Given the description of an element on the screen output the (x, y) to click on. 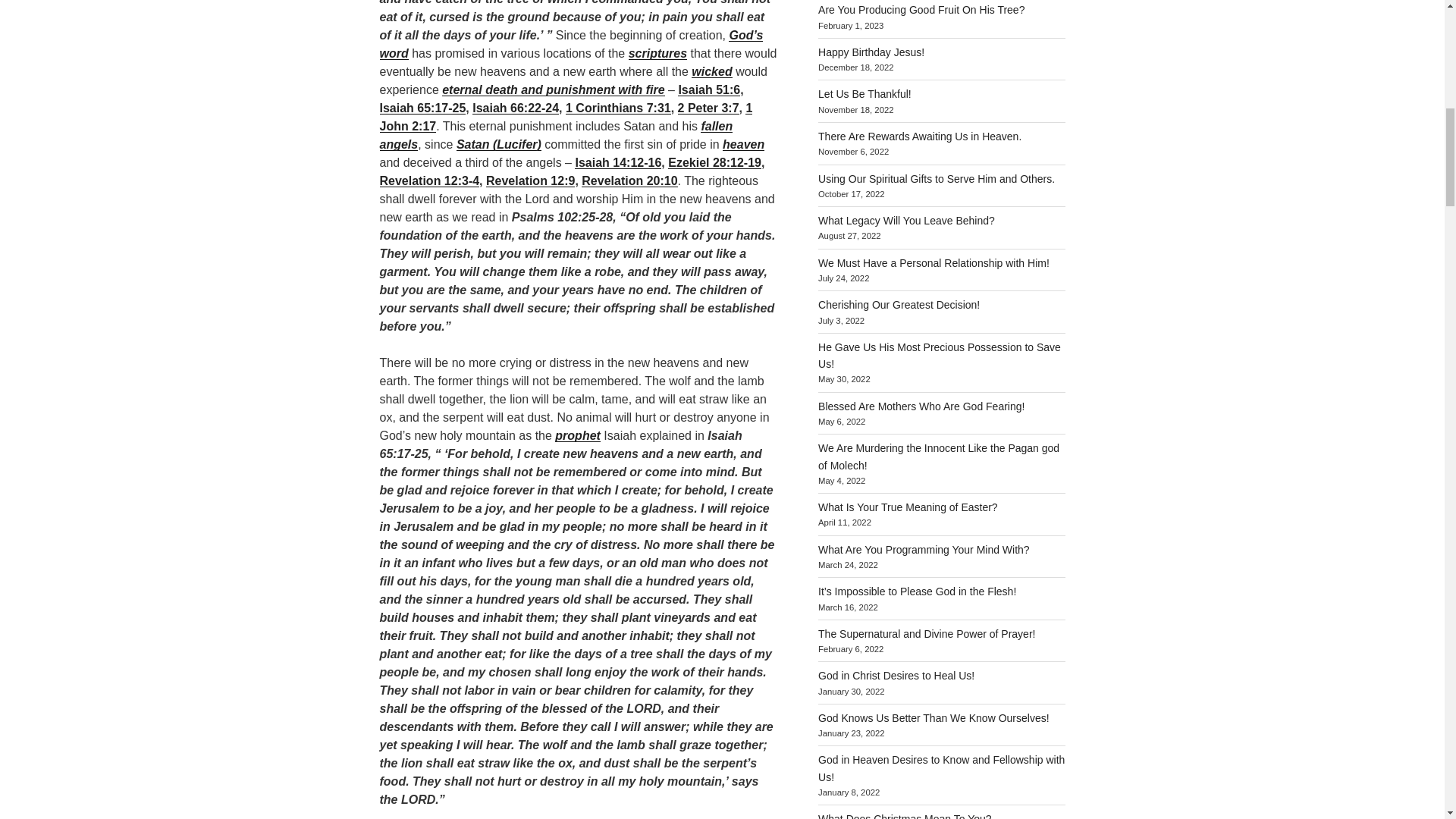
Isaiah 65:17-25 (421, 107)
1 John 2:17 (565, 116)
scriptures (657, 52)
Isaiah 51:6 (708, 89)
Isaiah 66:22-24 (515, 107)
wicked (711, 71)
2 Peter 3:7 (708, 107)
eternal death and punishment with fire (552, 89)
fallen angels (555, 134)
1 Corinthians 7:31 (618, 107)
